Given the description of an element on the screen output the (x, y) to click on. 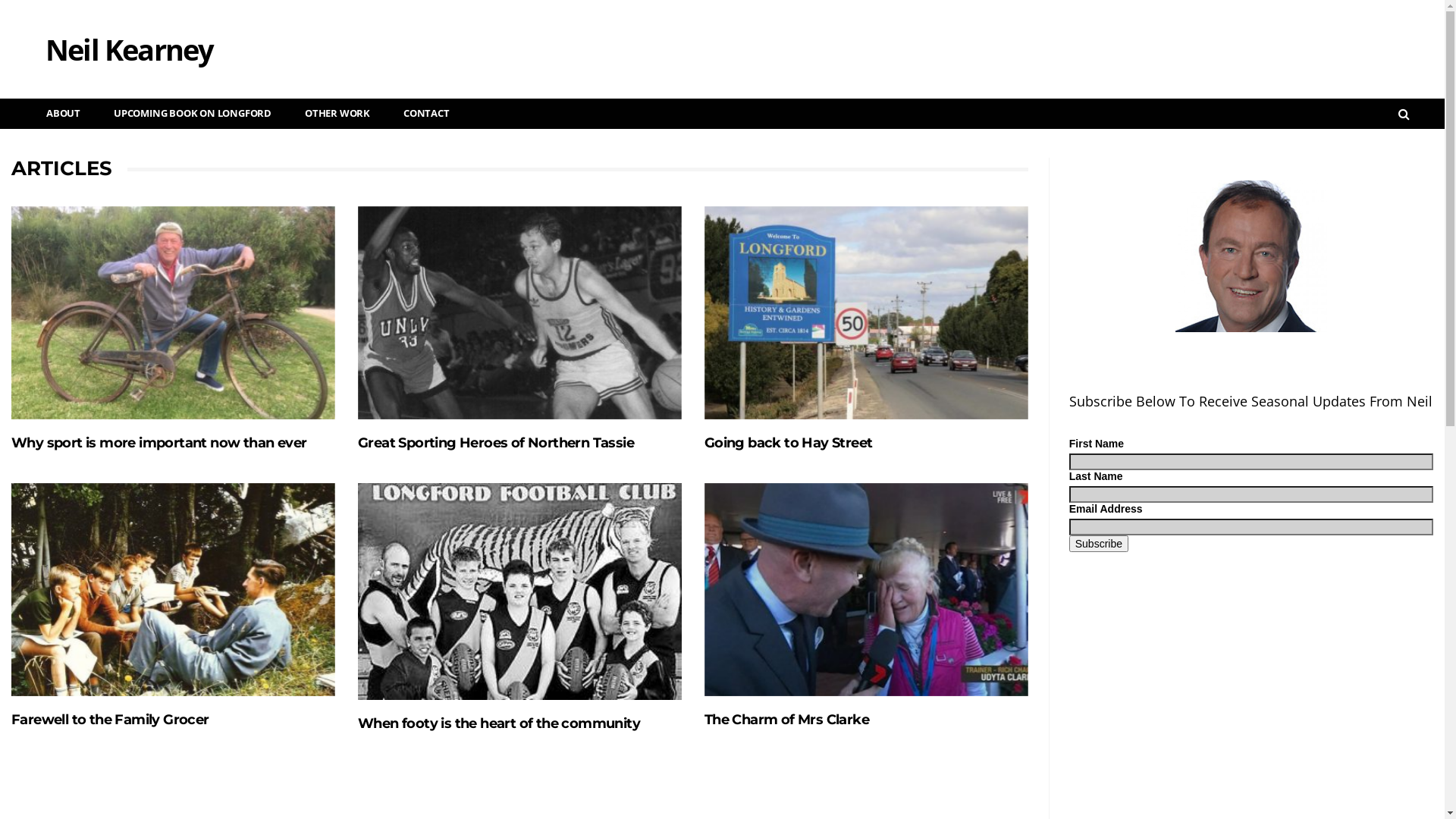
Farewell to the Family Grocer Element type: hover (173, 589)
Farewell to the Family Grocer Element type: text (110, 719)
Why sport is more important now than ever Element type: hover (173, 312)
Great Sporting Heroes of Northern Tassie Element type: text (495, 442)
CONTACT Element type: text (420, 113)
ABOUT Element type: text (57, 113)
The Charm of Mrs Clarke Element type: hover (866, 589)
Why sport is more important now than ever Element type: text (158, 442)
OTHER WORK Element type: text (331, 113)
When footy is the heart of the community Element type: hover (519, 591)
Subscribe Element type: text (1098, 543)
Great Sporting Heroes of Northern Tassie Element type: hover (519, 312)
Neil Kearney Element type: text (113, 34)
Going back to Hay Street Element type: text (788, 442)
When footy is the heart of the community Element type: text (498, 723)
UPCOMING BOOK ON LONGFORD Element type: text (186, 113)
Going back to Hay Street Element type: hover (866, 312)
The Charm of Mrs Clarke Element type: text (786, 719)
